Given the description of an element on the screen output the (x, y) to click on. 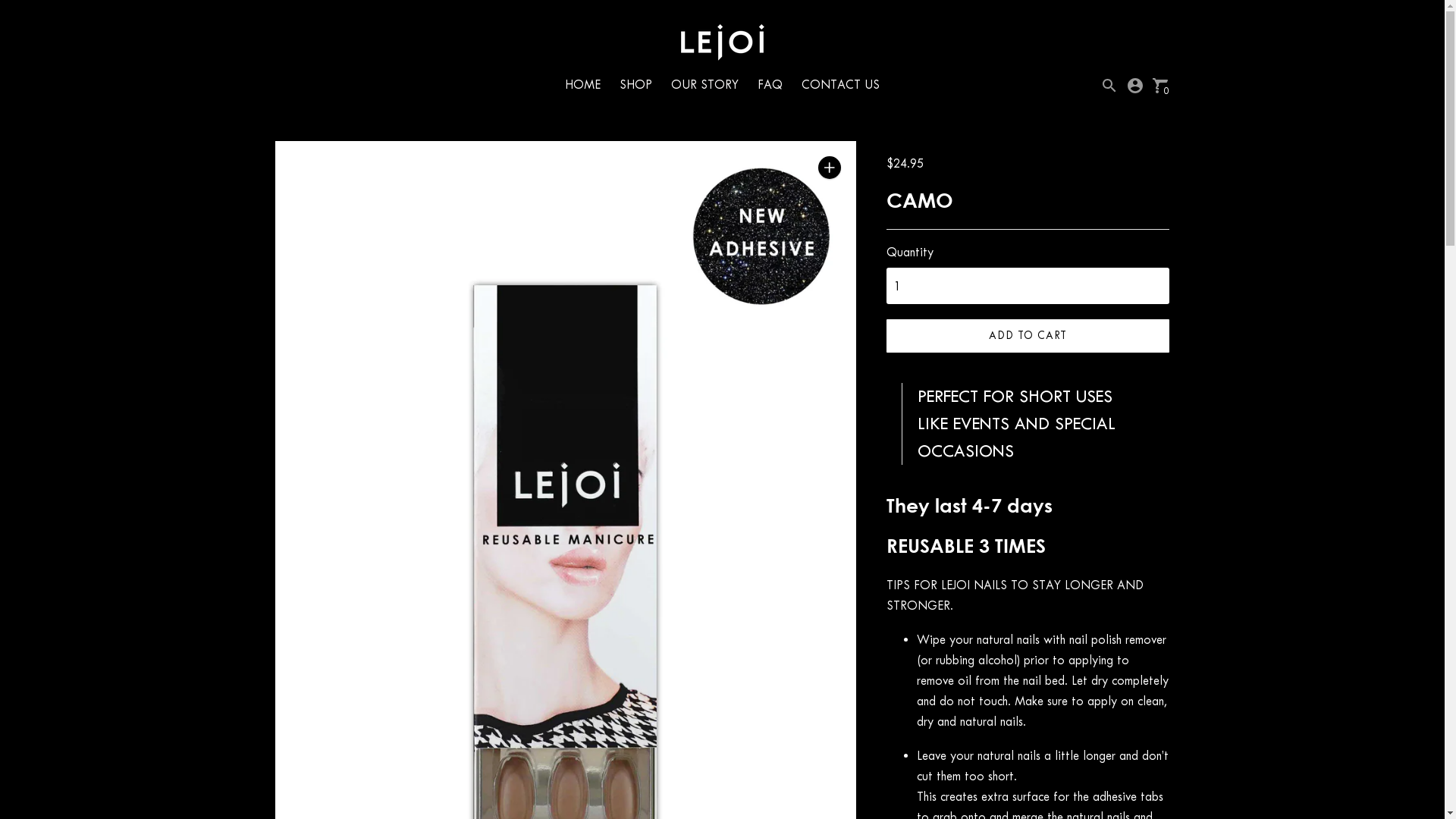
0 Element type: text (1160, 83)
SHOP Element type: text (635, 84)
OUR STORY Element type: text (704, 84)
FAQ Element type: text (769, 84)
HOME Element type: text (582, 84)
ADD TO CART Element type: text (1027, 335)
CONTACT US Element type: text (840, 84)
